Given the description of an element on the screen output the (x, y) to click on. 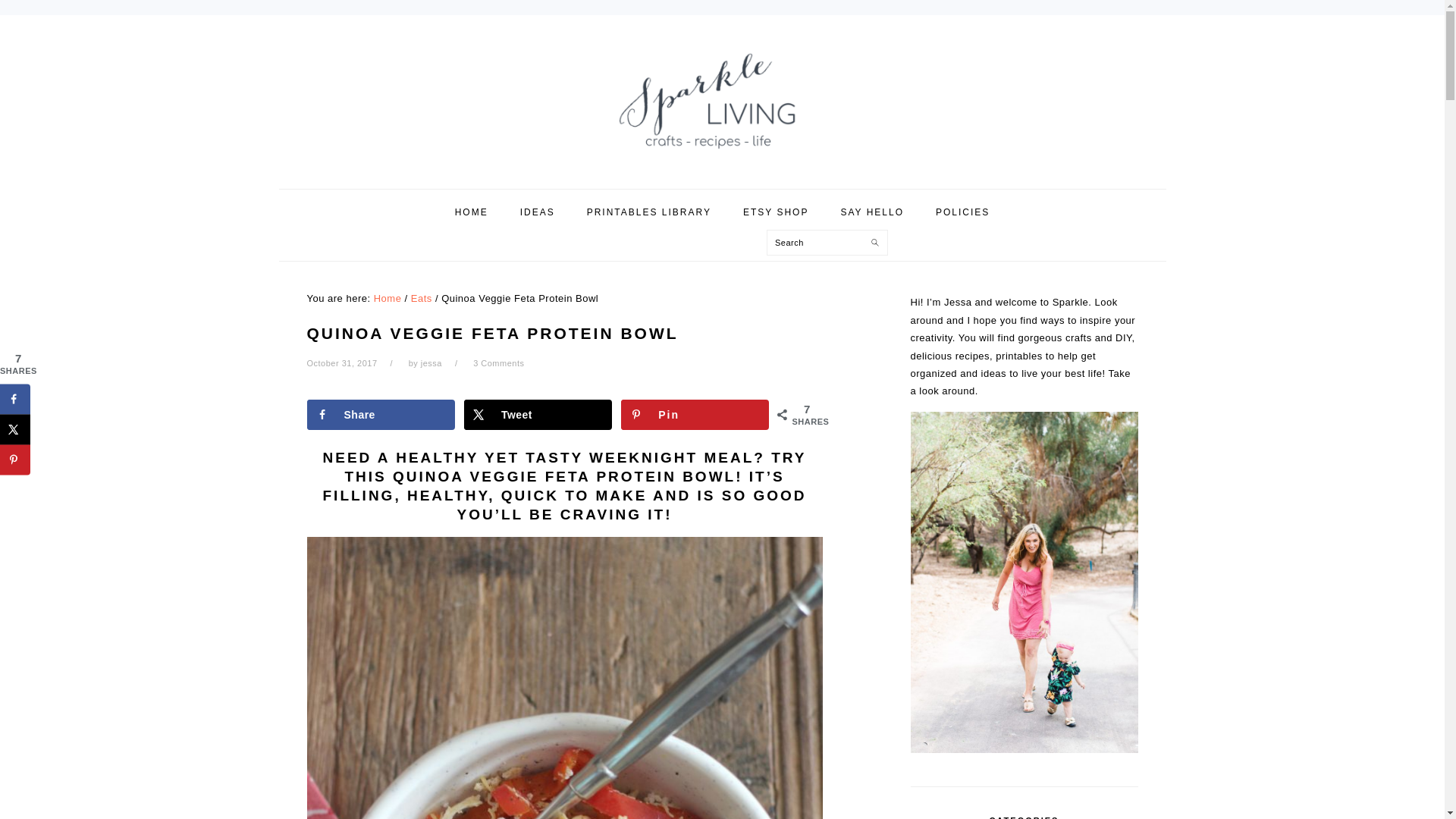
ETSY SHOP (775, 212)
Share on X (537, 414)
SAY HELLO (872, 212)
IDEAS (536, 212)
3 Comments (498, 362)
jessa (431, 362)
Home (387, 297)
PRINTABLES LIBRARY (648, 212)
